Given the description of an element on the screen output the (x, y) to click on. 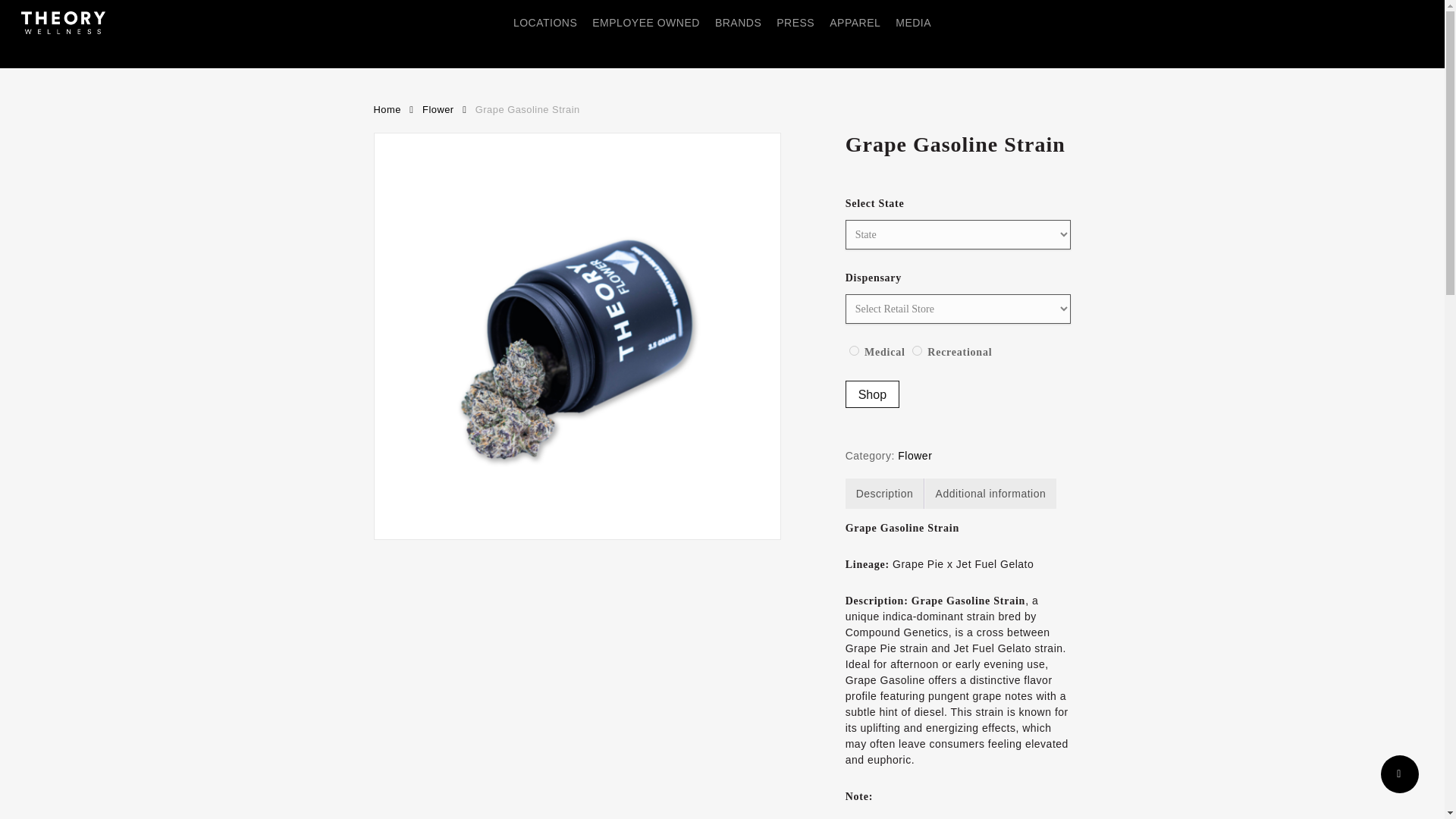
on (853, 350)
Flower (914, 455)
BRANDS (737, 22)
Home (386, 109)
Description (885, 493)
APPAREL (854, 22)
EMPLOYEE OWNED (646, 22)
Additional information (991, 493)
on (916, 350)
